Given the description of an element on the screen output the (x, y) to click on. 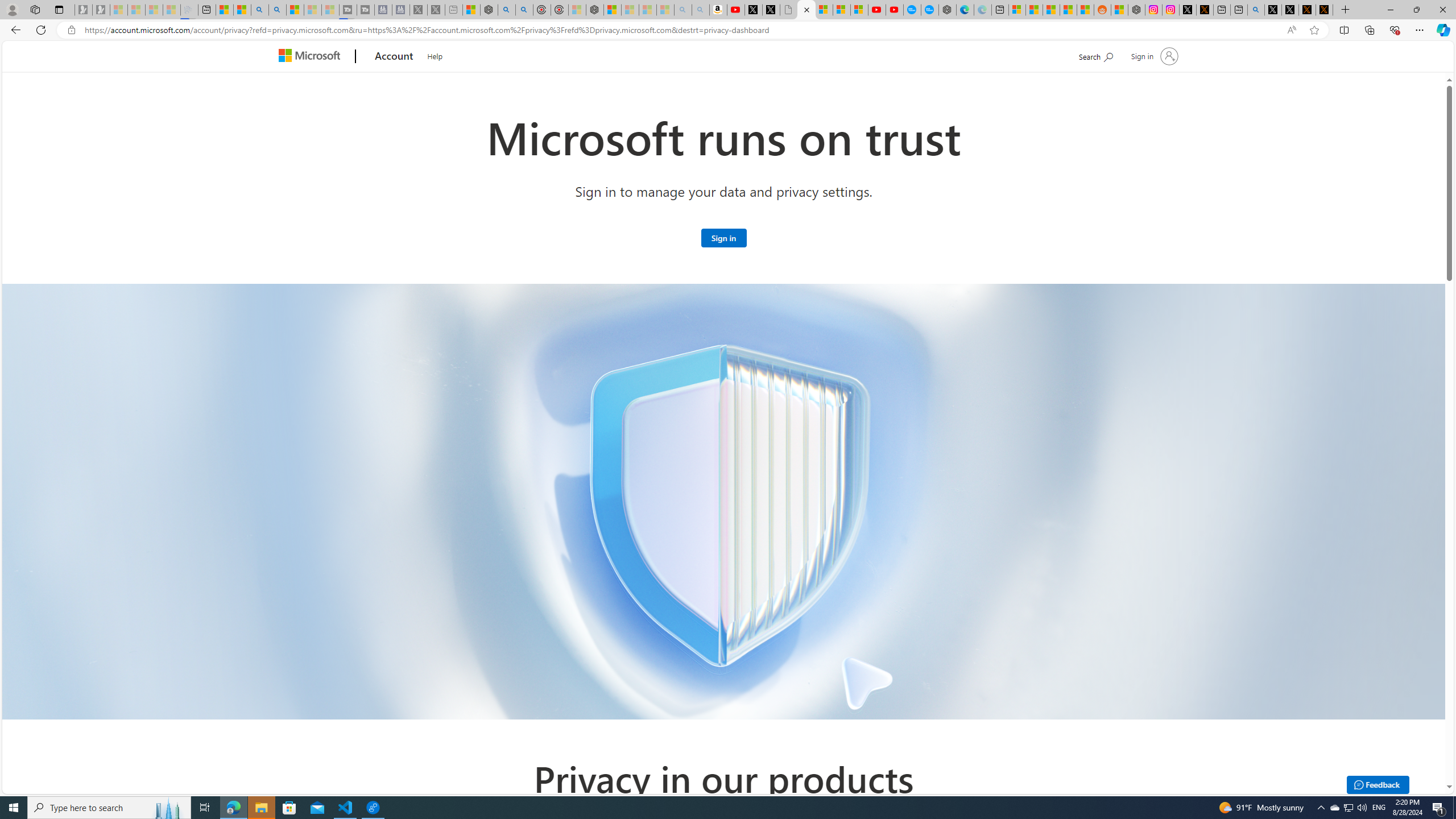
Search Microsoft.com (1095, 54)
